Given the description of an element on the screen output the (x, y) to click on. 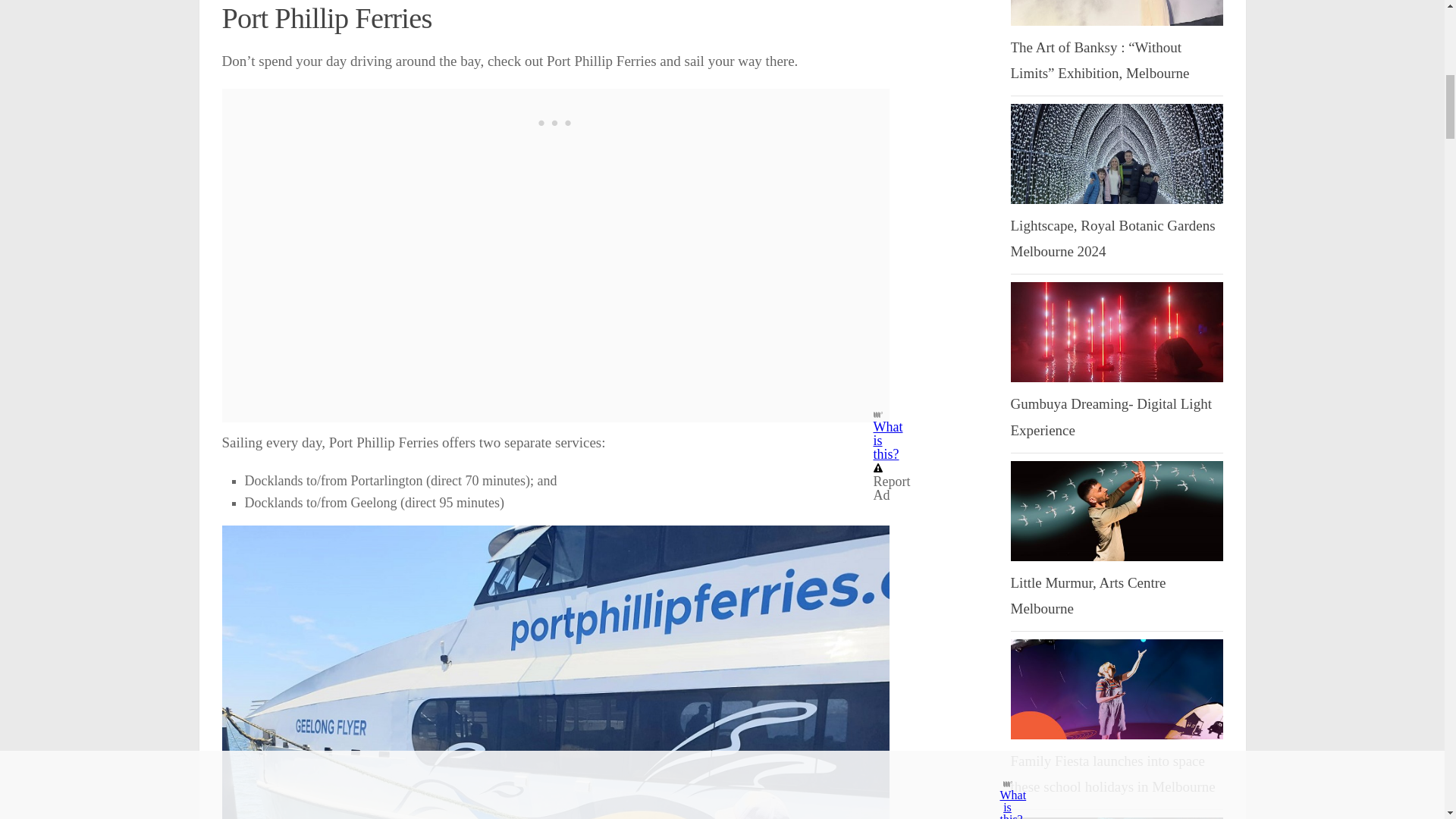
3rd party ad content (555, 122)
